Given the description of an element on the screen output the (x, y) to click on. 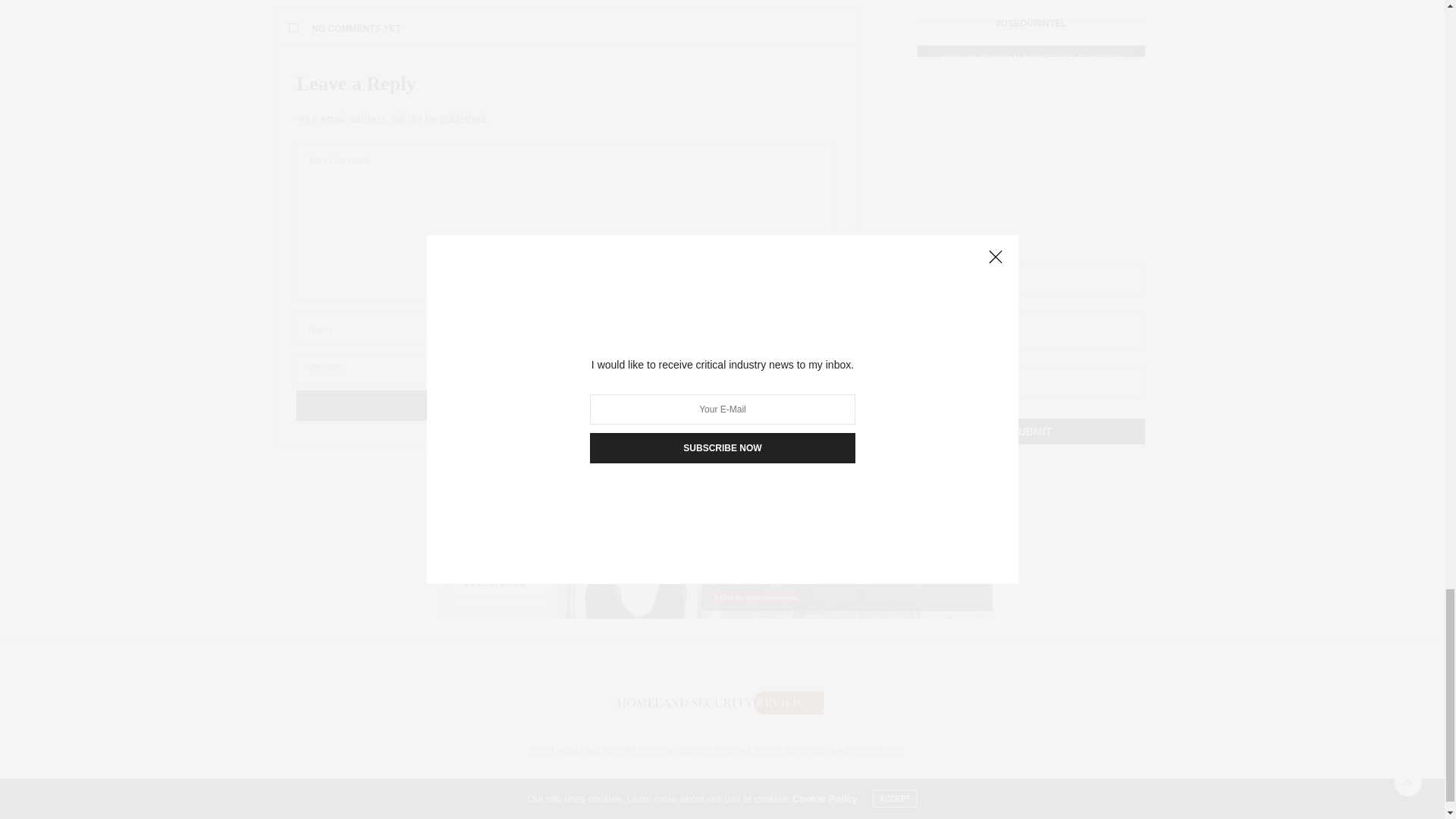
Submit Comment (564, 405)
Submit Comment (564, 405)
NO COMMENTS YET (564, 28)
